Given the description of an element on the screen output the (x, y) to click on. 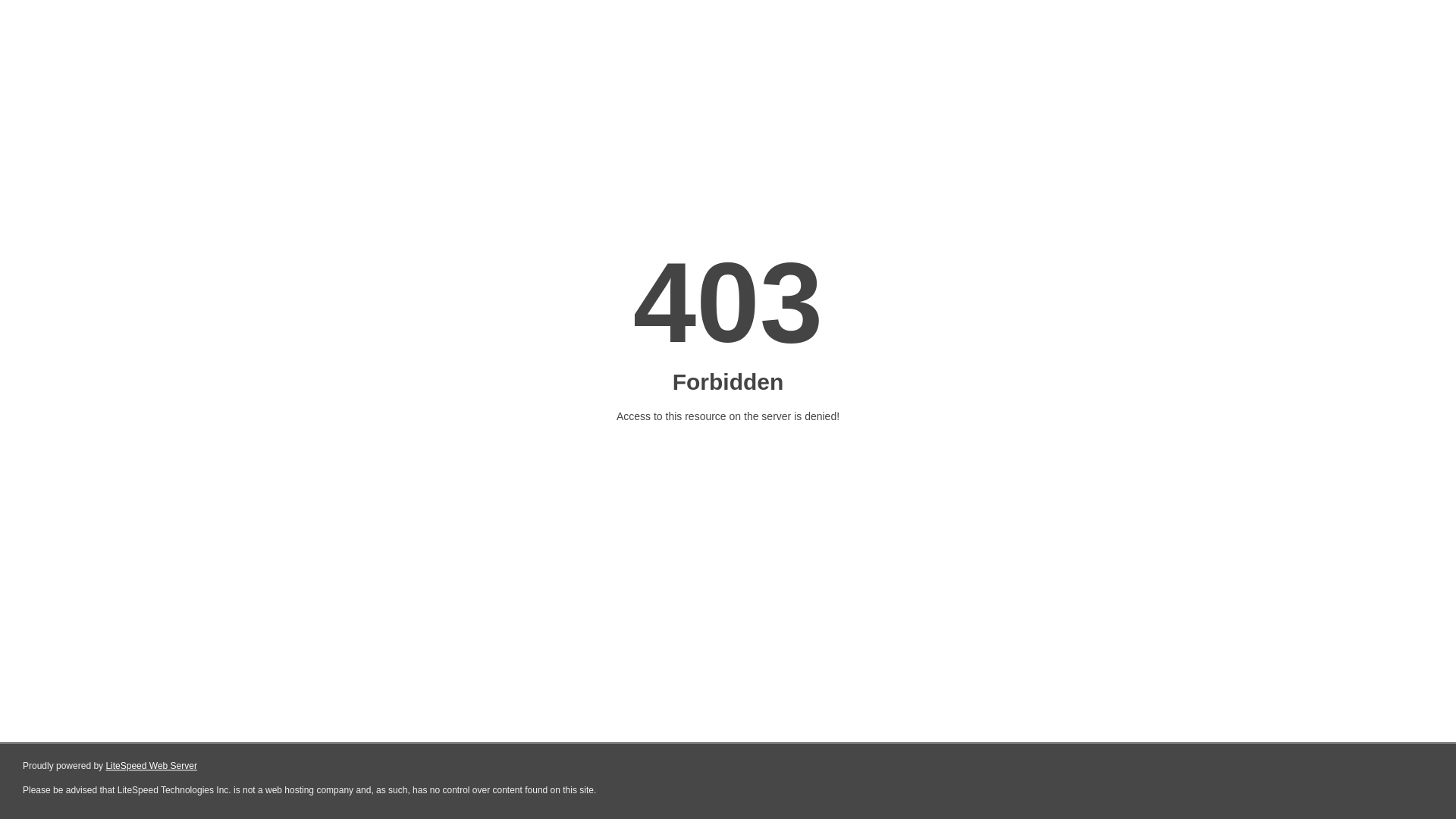
LiteSpeed Web Server Element type: text (151, 765)
